Given the description of an element on the screen output the (x, y) to click on. 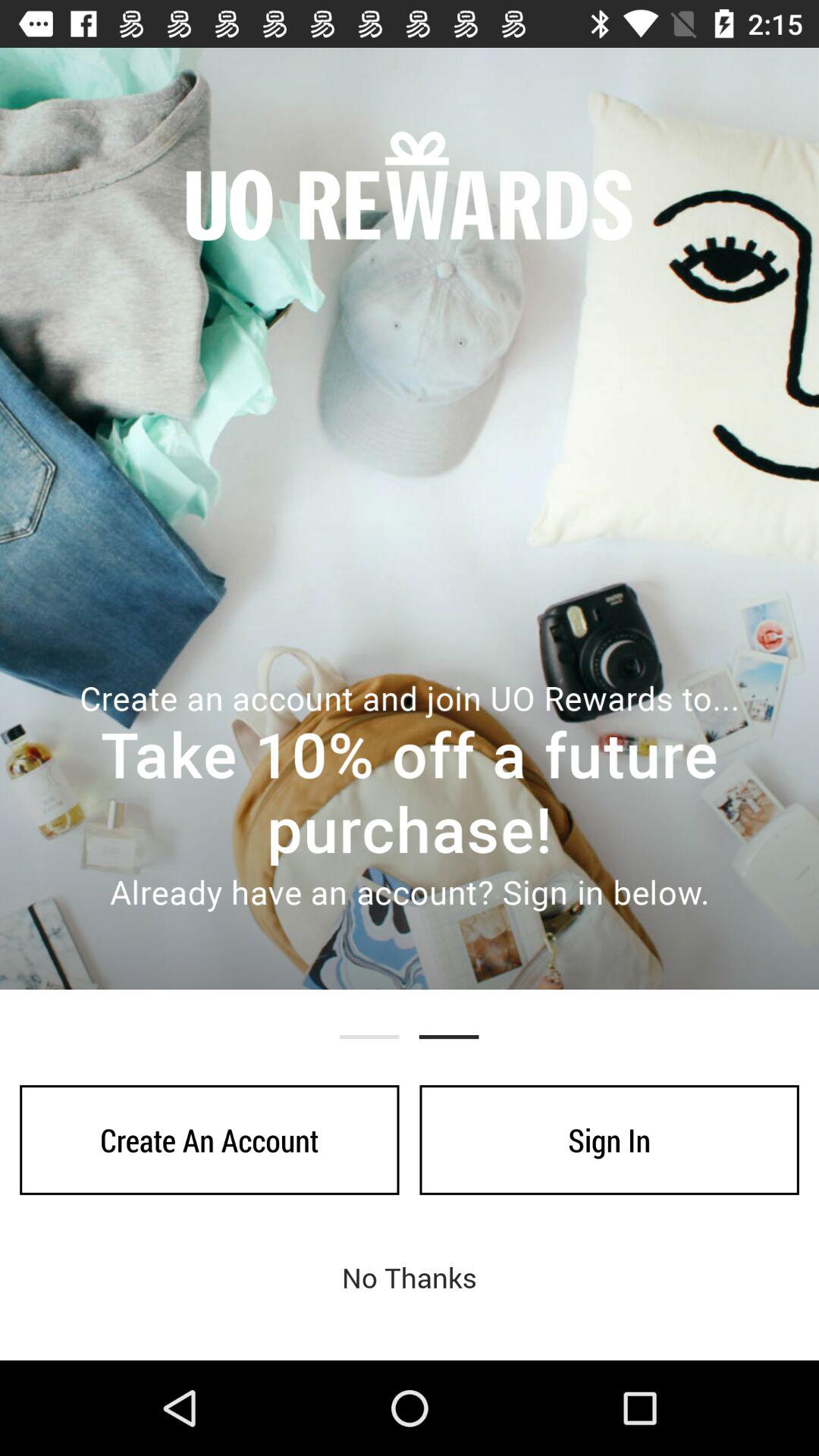
click the item to the left of the sign in item (209, 1139)
